Given the description of an element on the screen output the (x, y) to click on. 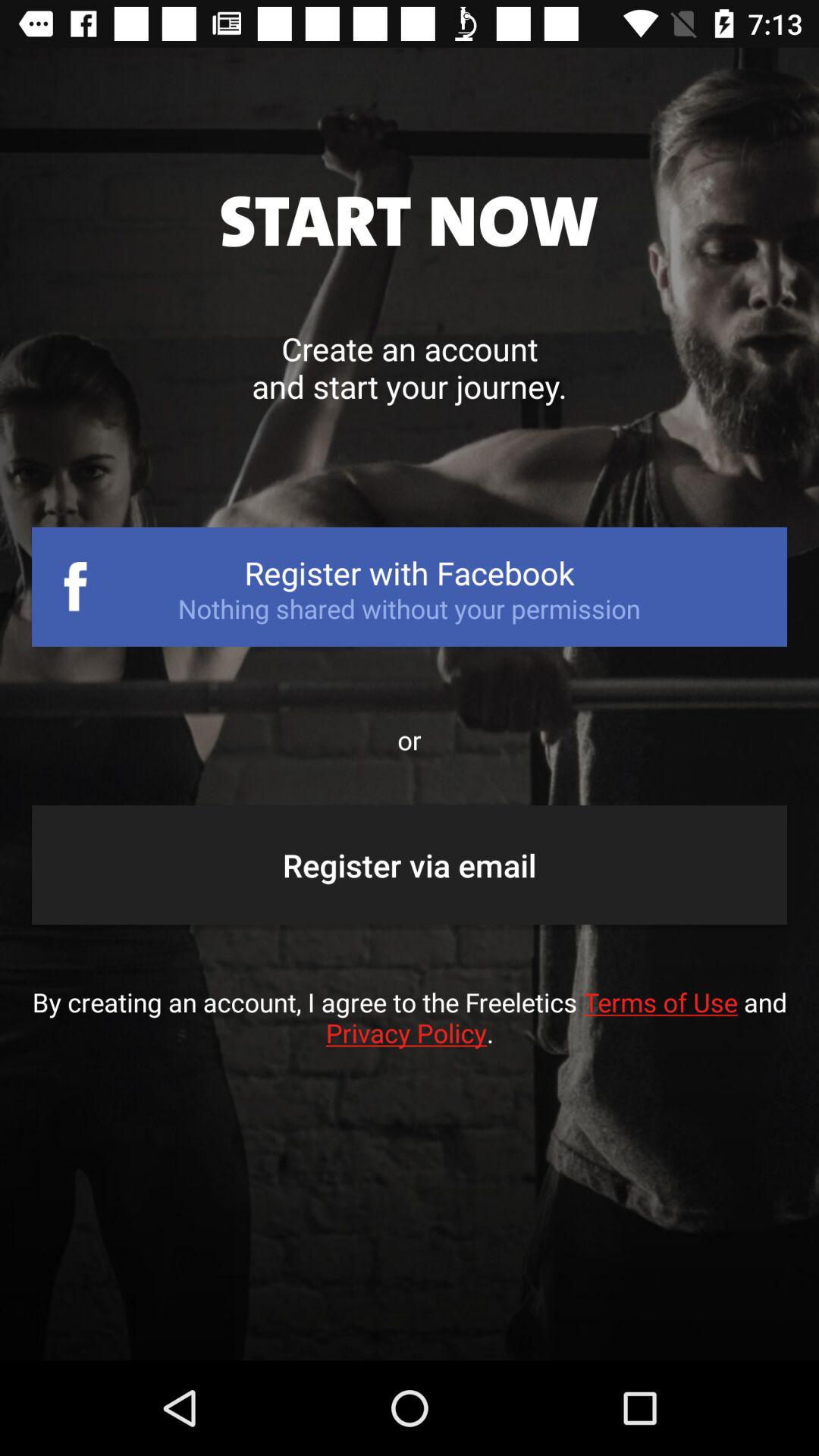
press item below the register via email item (409, 1033)
